Given the description of an element on the screen output the (x, y) to click on. 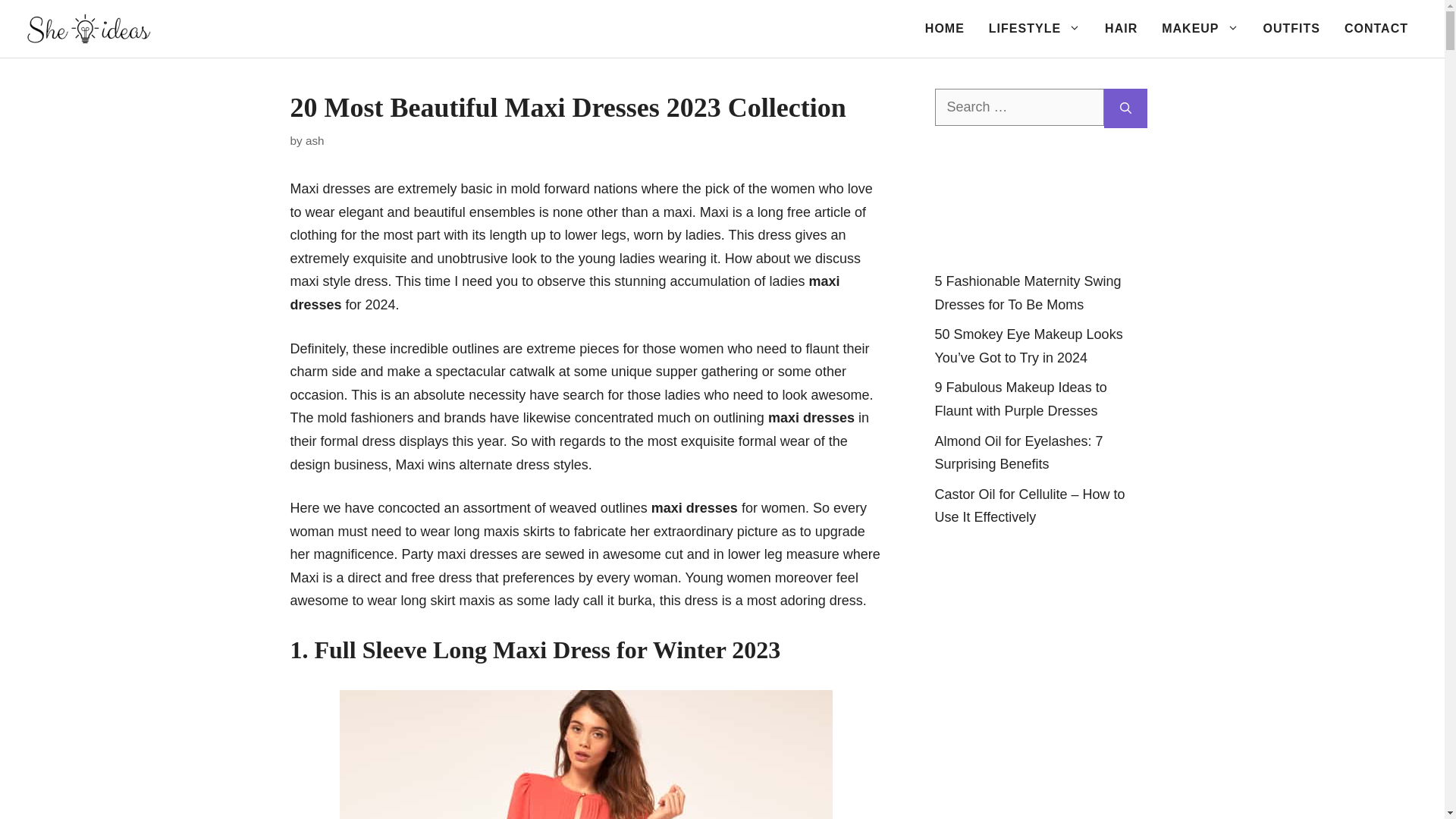
CONTACT (1376, 28)
formal dress (358, 441)
OUTFITS (1291, 28)
Almond Oil for Eyelashes: 7 Surprising Benefits (1018, 453)
maxi style dress (338, 281)
Search for: (1018, 107)
MAKEUP (1200, 28)
ash (314, 140)
HAIR (1121, 28)
5 Fashionable Maternity Swing Dresses for To Be Moms (1027, 292)
9 Fabulous Makeup Ideas to Flaunt with Purple Dresses (1020, 399)
HOME (944, 28)
View all posts by ash (314, 140)
LIFESTYLE (1034, 28)
